Given the description of an element on the screen output the (x, y) to click on. 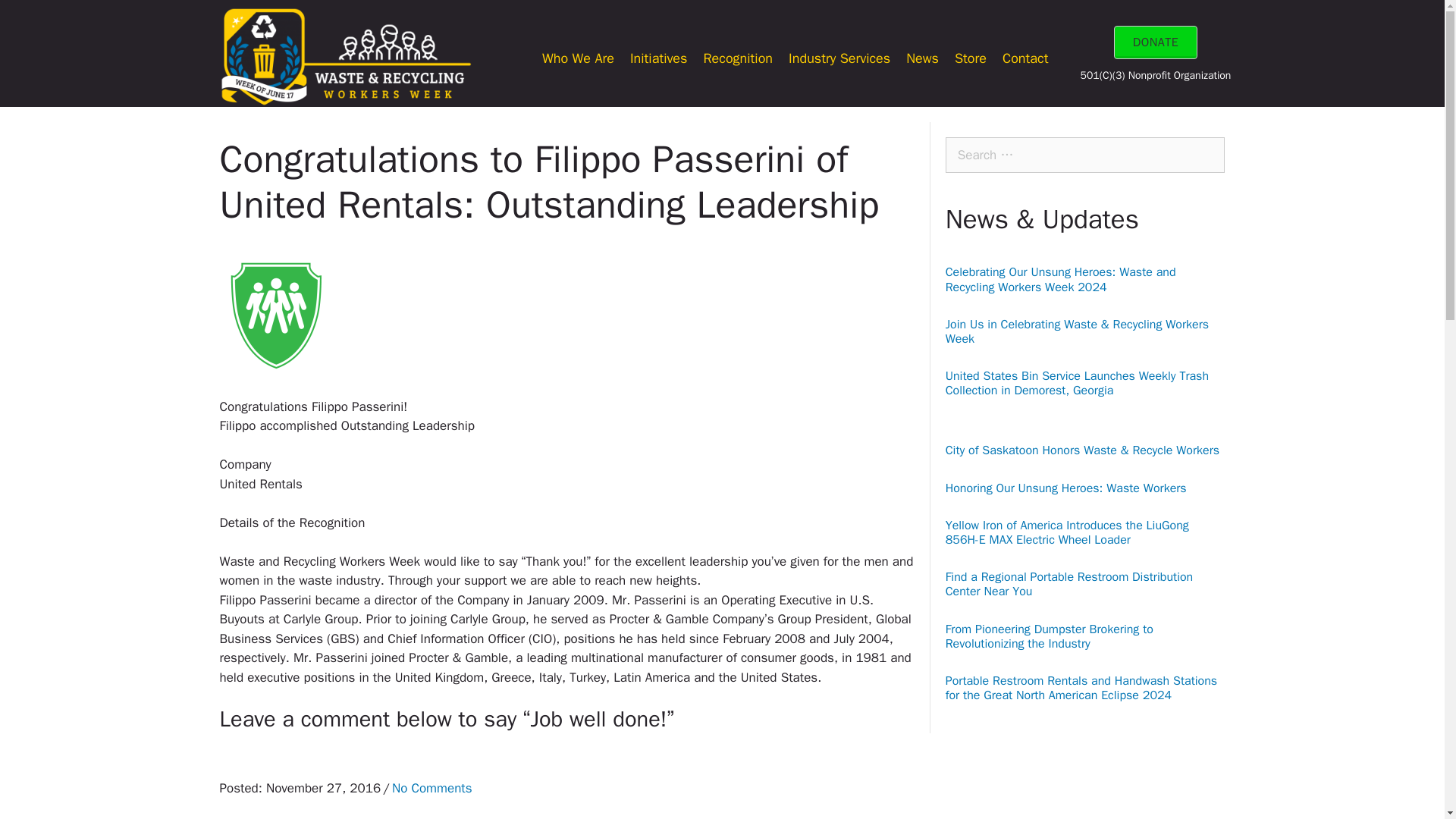
News (922, 58)
Store (970, 58)
Search (41, 18)
Who We Are (577, 58)
Industry Services (839, 58)
Search for: (1084, 155)
Contact (1024, 58)
No Comments (431, 788)
DONATE (1155, 41)
